Given the description of an element on the screen output the (x, y) to click on. 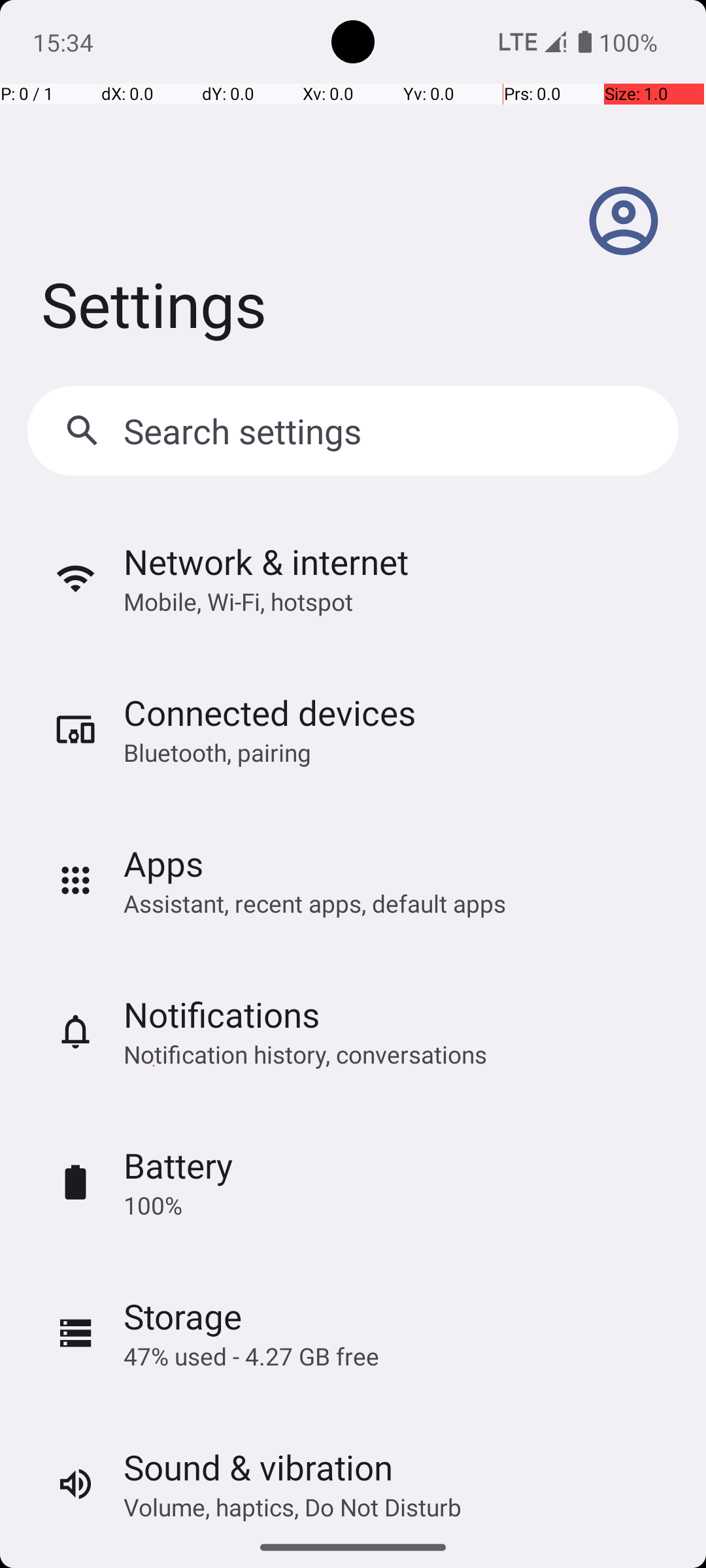
47% used - 4.27 GB free Element type: android.widget.TextView (251, 1355)
